Given the description of an element on the screen output the (x, y) to click on. 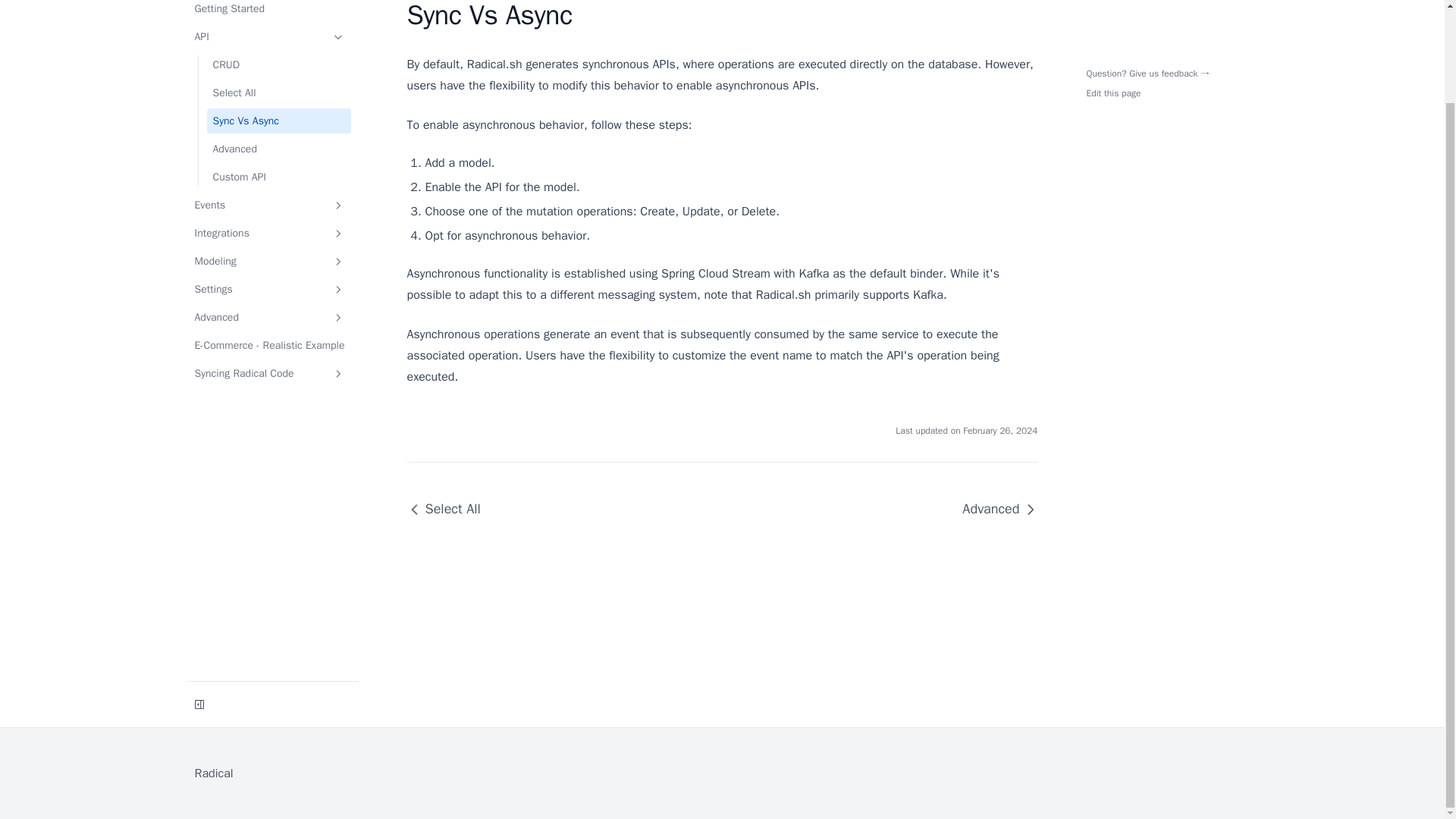
Select All (278, 92)
Getting Started (268, 10)
Sync Vs Async (278, 120)
Advanced (278, 148)
Settings (268, 289)
Hide sidebar (198, 689)
Modeling (268, 260)
Custom API (278, 176)
API (268, 36)
E-Commerce - Realistic Example (268, 344)
